Given the description of an element on the screen output the (x, y) to click on. 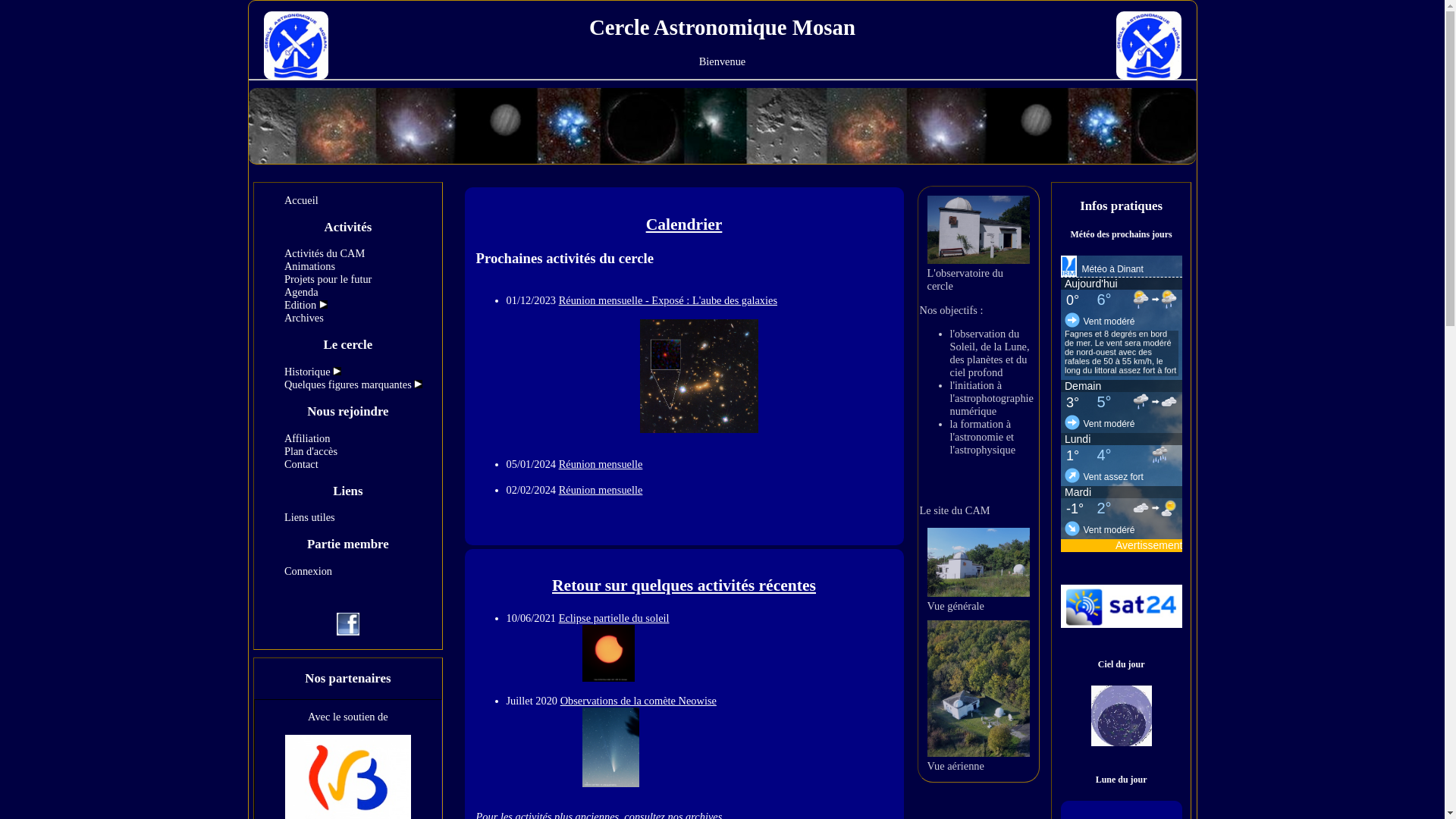
Archives Element type: text (303, 317)
Liens utiles Element type: text (309, 517)
Connexion Element type: text (308, 570)
carte du ciel pour Dinant Element type: hover (1121, 742)
Projets pour le futur Element type: text (328, 279)
Site facebook du CAM Element type: hover (347, 631)
Accueil Element type: text (301, 200)
Animations Element type: text (309, 266)
Contact Element type: text (301, 464)
Affiliation Element type: text (307, 438)
Agenda Element type: text (301, 291)
Eclipse partielle du soleil Element type: text (587, 624)
